Given the description of an element on the screen output the (x, y) to click on. 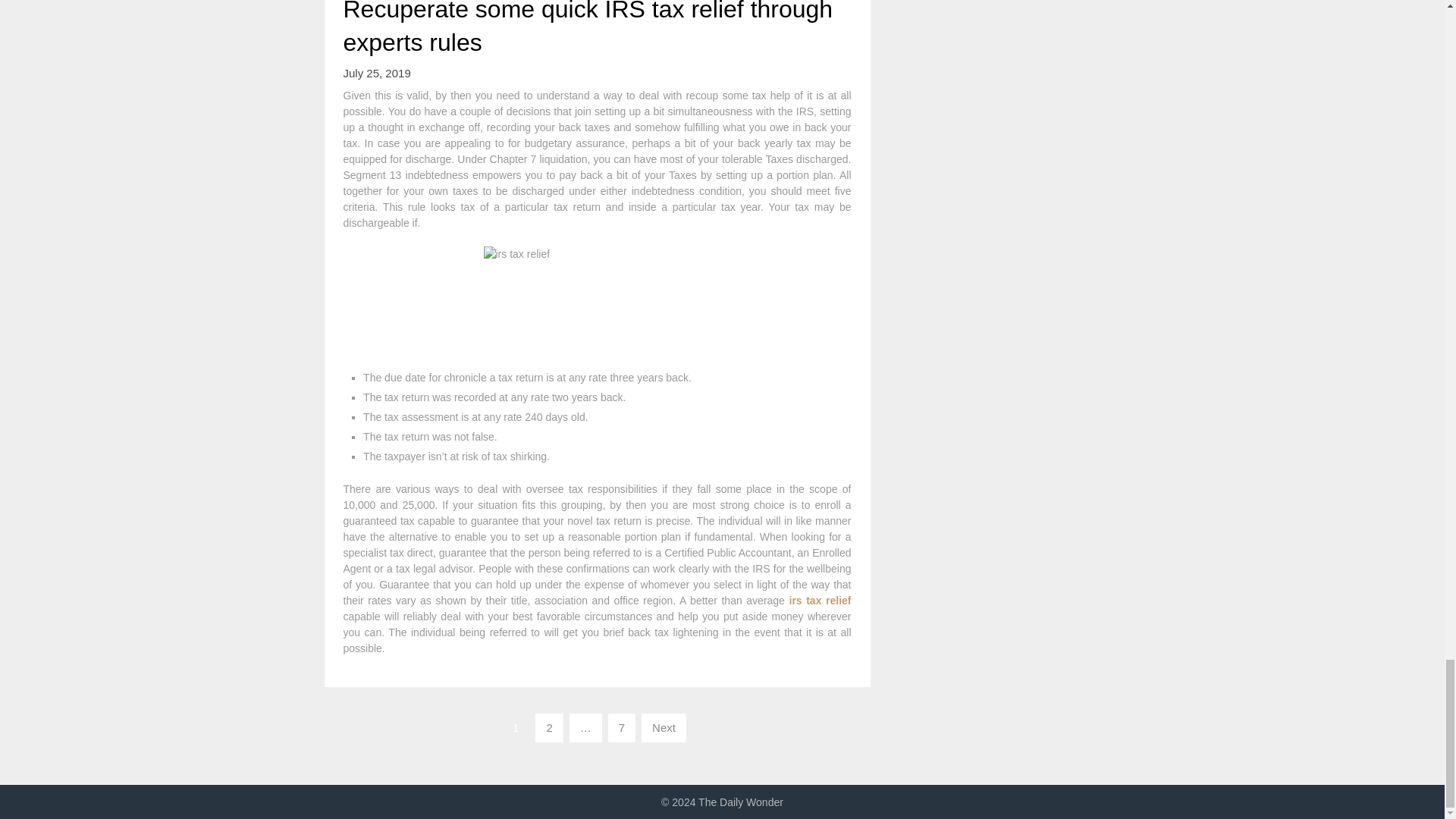
Recuperate some quick IRS tax relief through experts rules (587, 28)
7 (621, 727)
2 (548, 727)
irs tax relief (819, 600)
Recuperate some quick IRS tax relief through experts rules (587, 28)
Next (663, 727)
